Given the description of an element on the screen output the (x, y) to click on. 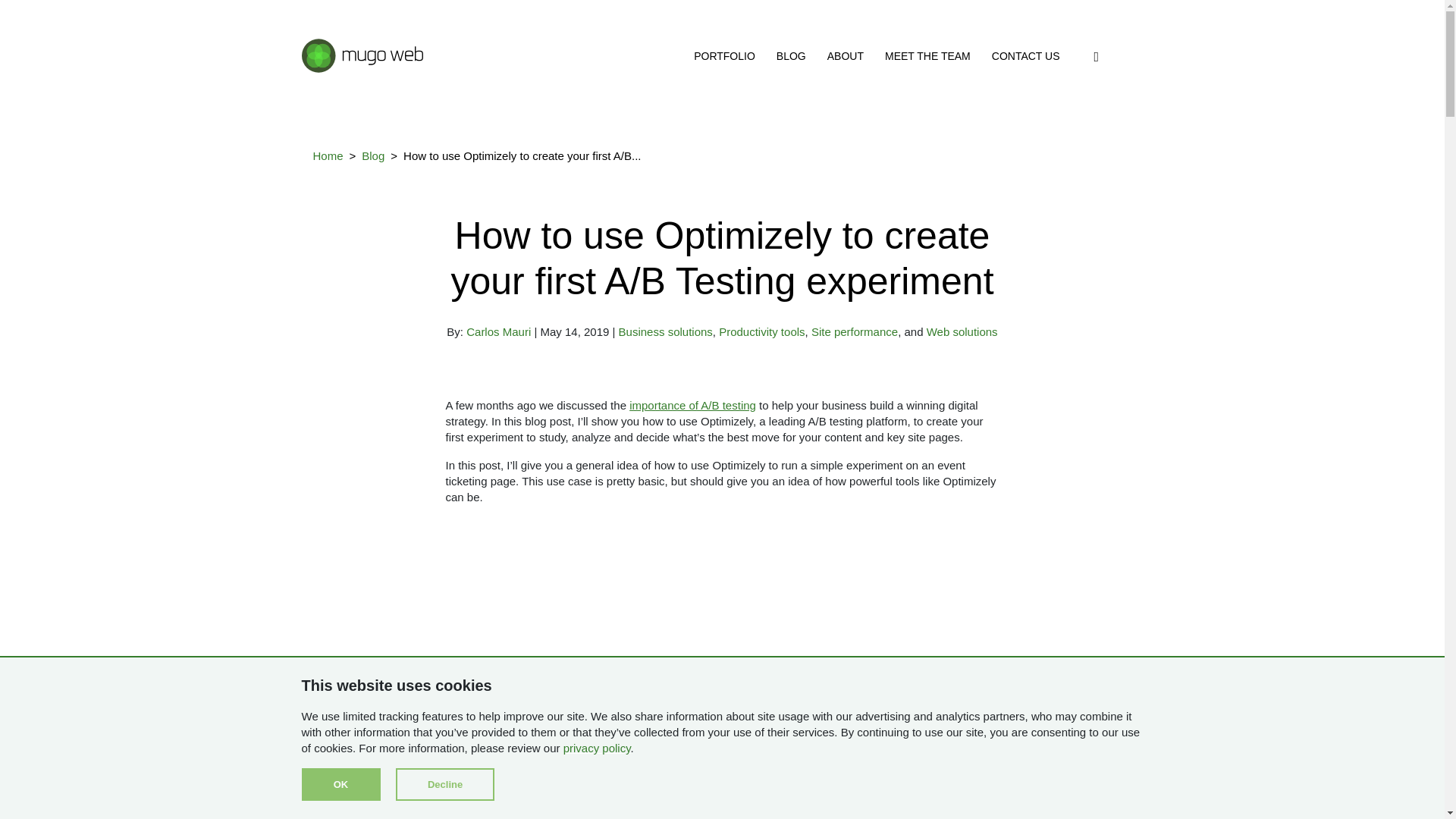
Business solutions (665, 331)
Home (327, 155)
BLOG (791, 55)
CONTACT US (1025, 55)
OK (340, 784)
PORTFOLIO (724, 55)
Decline (445, 784)
Mugo home page (362, 53)
privacy policy (596, 748)
Carlos Mauri (498, 331)
Blog (372, 155)
ABOUT (845, 55)
MEET THE TEAM (928, 55)
Web solutions (961, 331)
Productivity tools (762, 331)
